Given the description of an element on the screen output the (x, y) to click on. 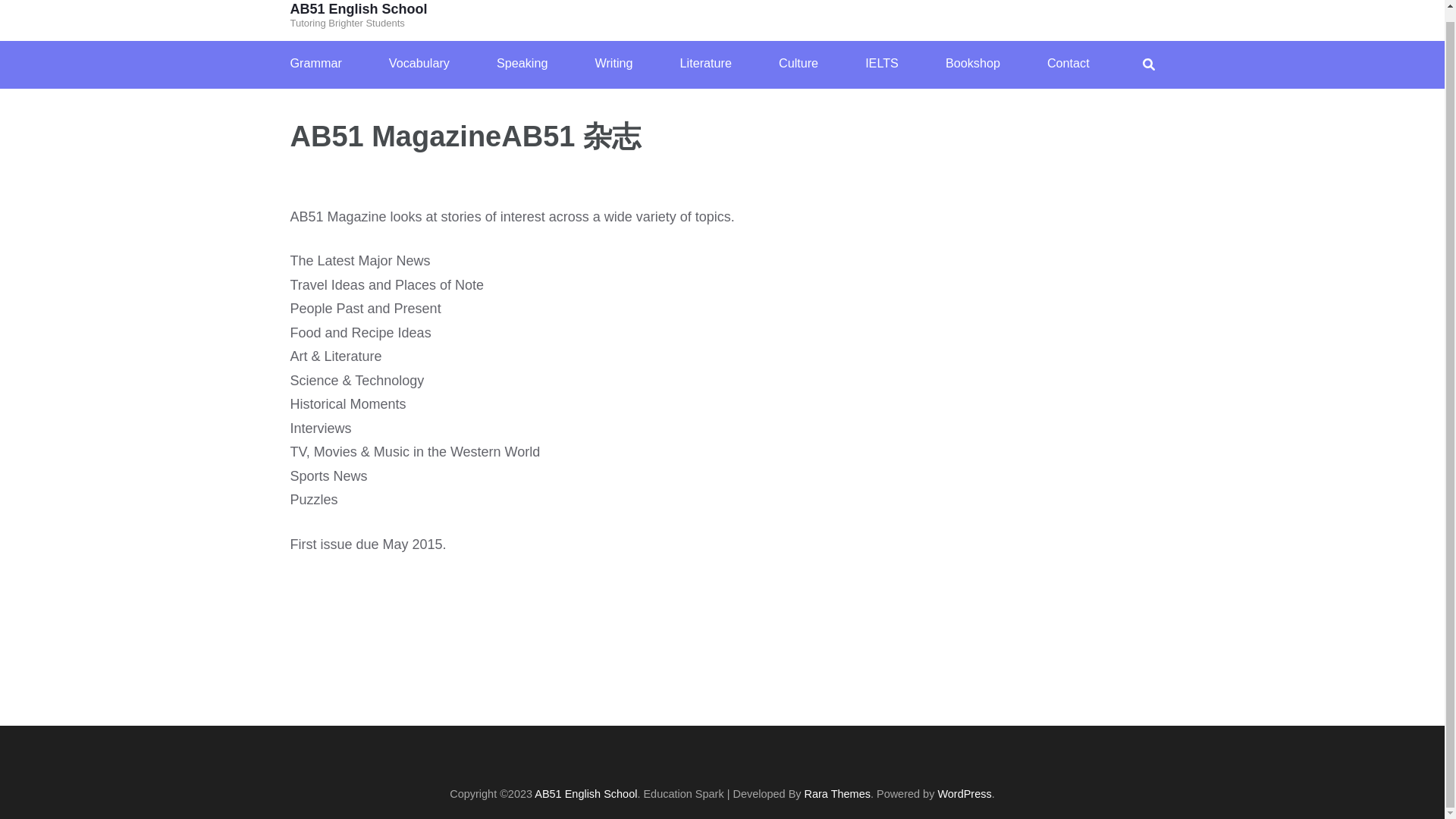
Bookshop (972, 62)
Literature (705, 62)
Vocabulary (418, 62)
AB51 English School (585, 793)
Speaking (522, 62)
Grammar (314, 62)
Rara Themes (837, 793)
AB51 English School (357, 8)
WordPress (964, 793)
Contact (1067, 62)
